Given the description of an element on the screen output the (x, y) to click on. 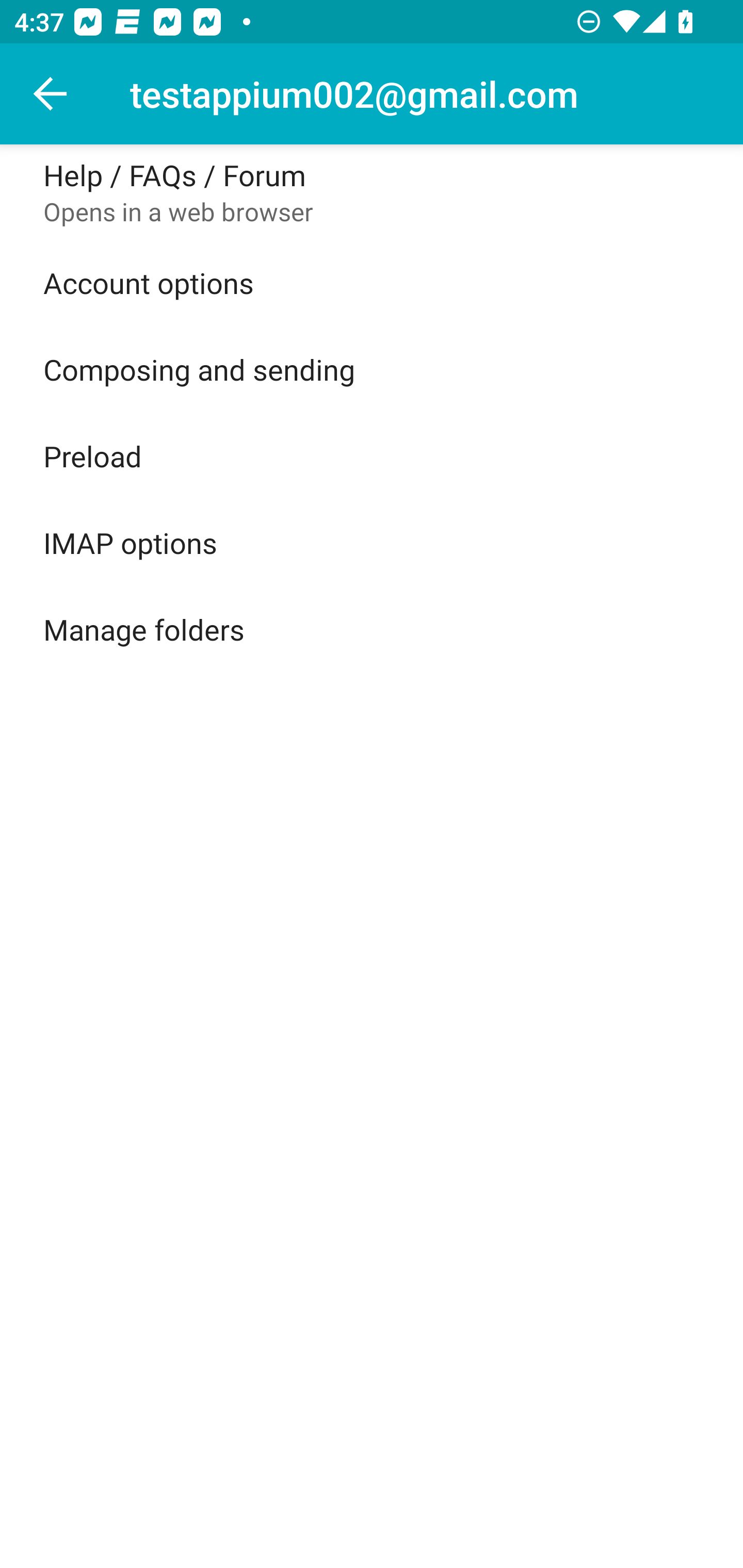
Navigate up (50, 93)
Help / FAQs / Forum Opens in a web browser (371, 191)
Account options (371, 282)
Composing and sending (371, 369)
Preload (371, 455)
IMAP options (371, 542)
Manage folders (371, 629)
